Given the description of an element on the screen output the (x, y) to click on. 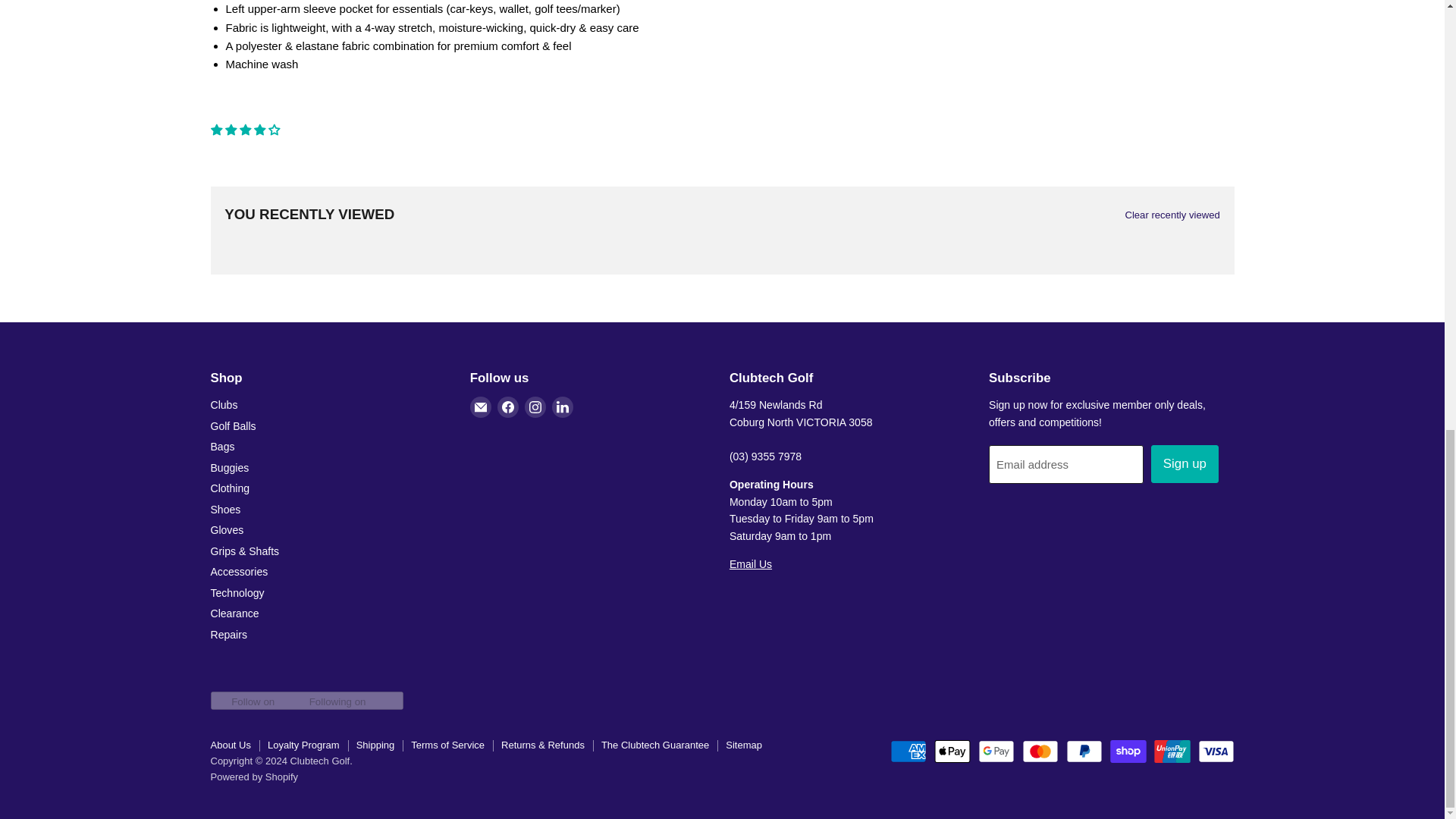
Email (481, 406)
Email Clubtech Golf (750, 563)
Facebook (507, 406)
Instagram (535, 406)
LinkedIn (562, 406)
